Given the description of an element on the screen output the (x, y) to click on. 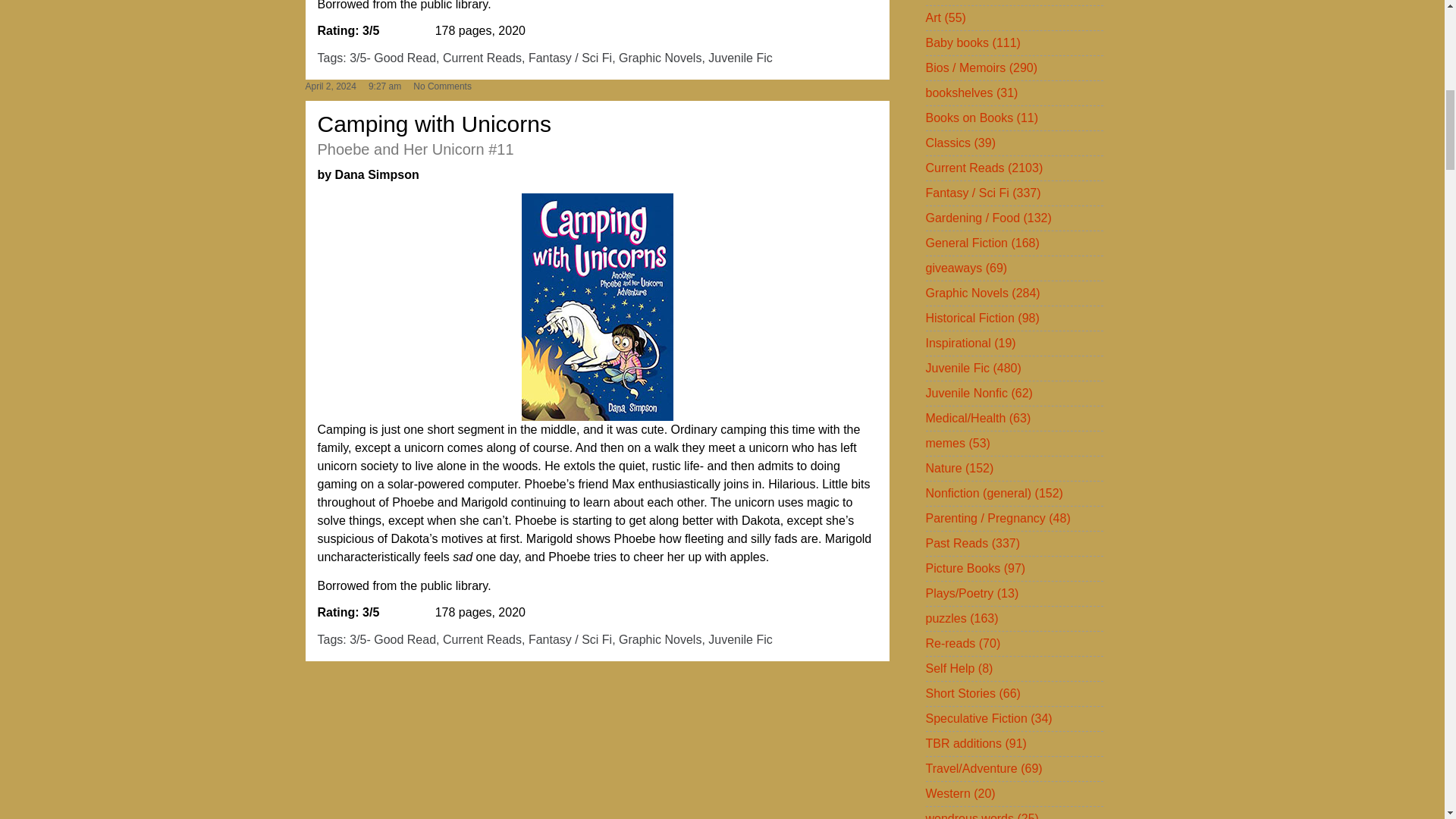
Juvenile Fic (739, 639)
Graphic Novels (659, 57)
April 2, 2024 (329, 86)
Current Reads (481, 639)
Current Reads (481, 57)
Camping with Unicorns (433, 123)
No Comments (442, 86)
Juvenile Fic (739, 57)
Graphic Novels (659, 639)
